Given the description of an element on the screen output the (x, y) to click on. 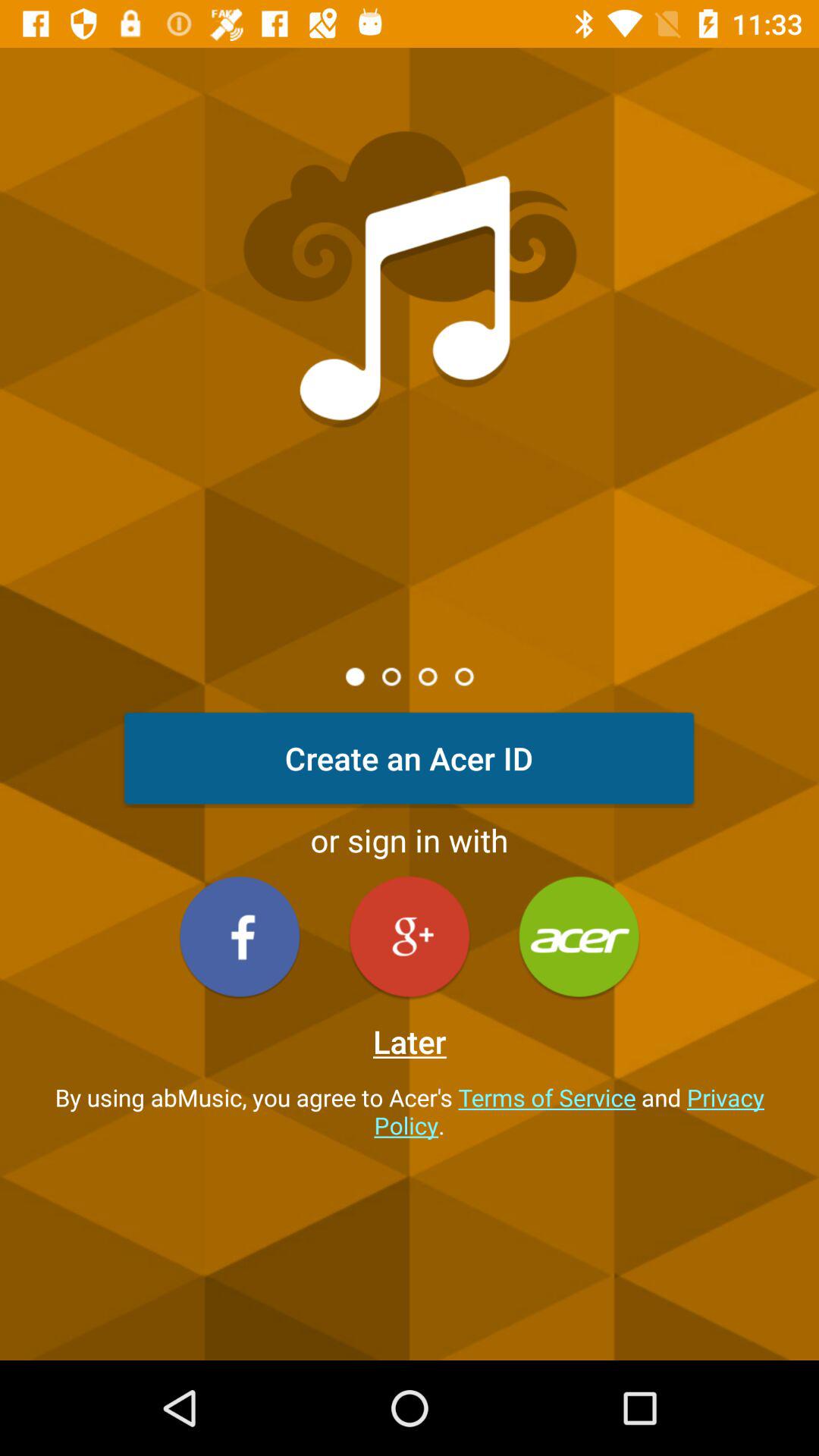
google+ icon (409, 936)
